Given the description of an element on the screen output the (x, y) to click on. 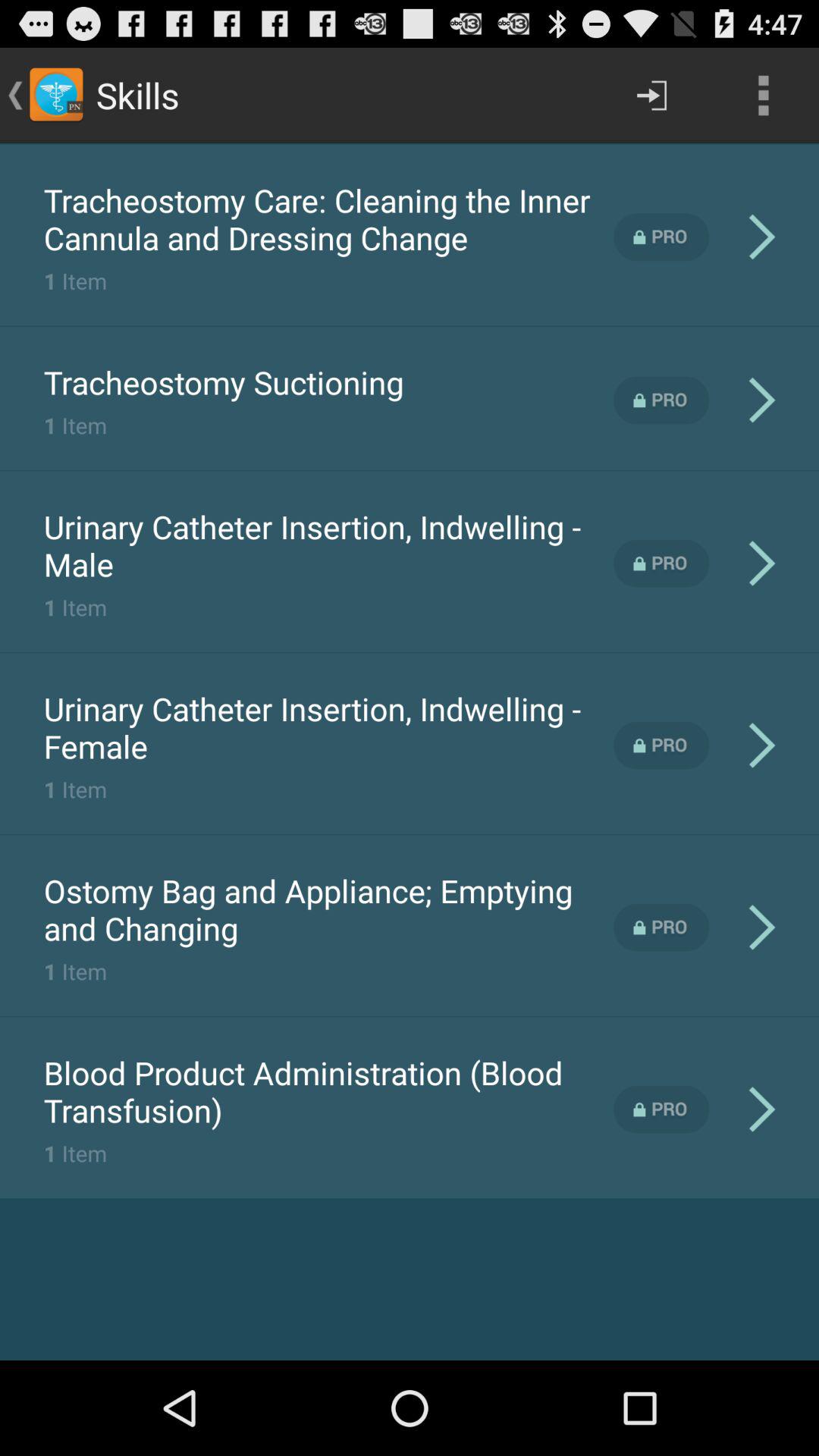
scroll to the tracheostomy care cleaning icon (328, 218)
